Given the description of an element on the screen output the (x, y) to click on. 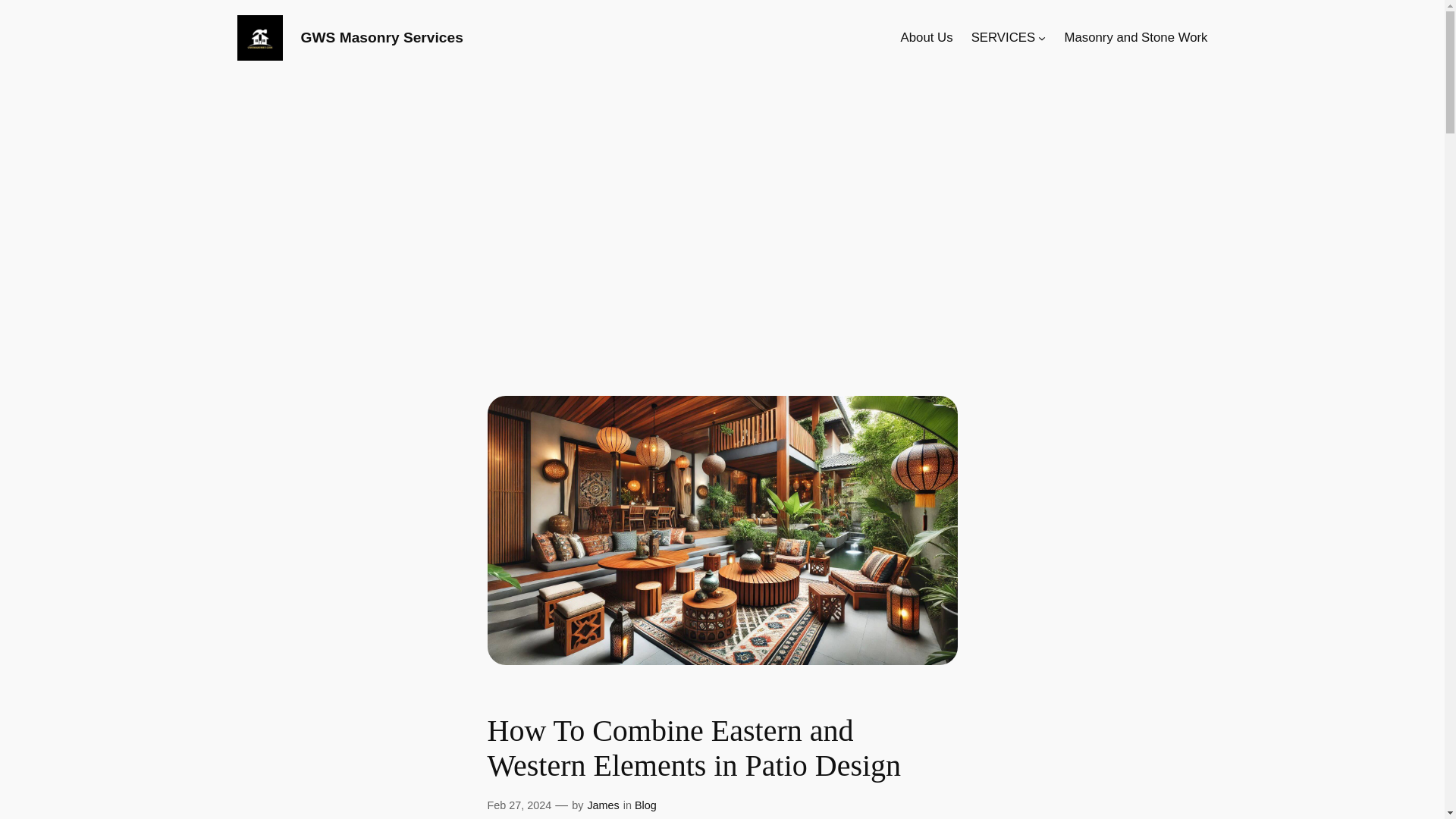
About Us (927, 37)
Feb 27, 2024 (518, 805)
SERVICES (1003, 37)
GWS Masonry Services (381, 37)
Blog (645, 805)
Masonry and Stone Work (1135, 37)
James (602, 805)
